Given the description of an element on the screen output the (x, y) to click on. 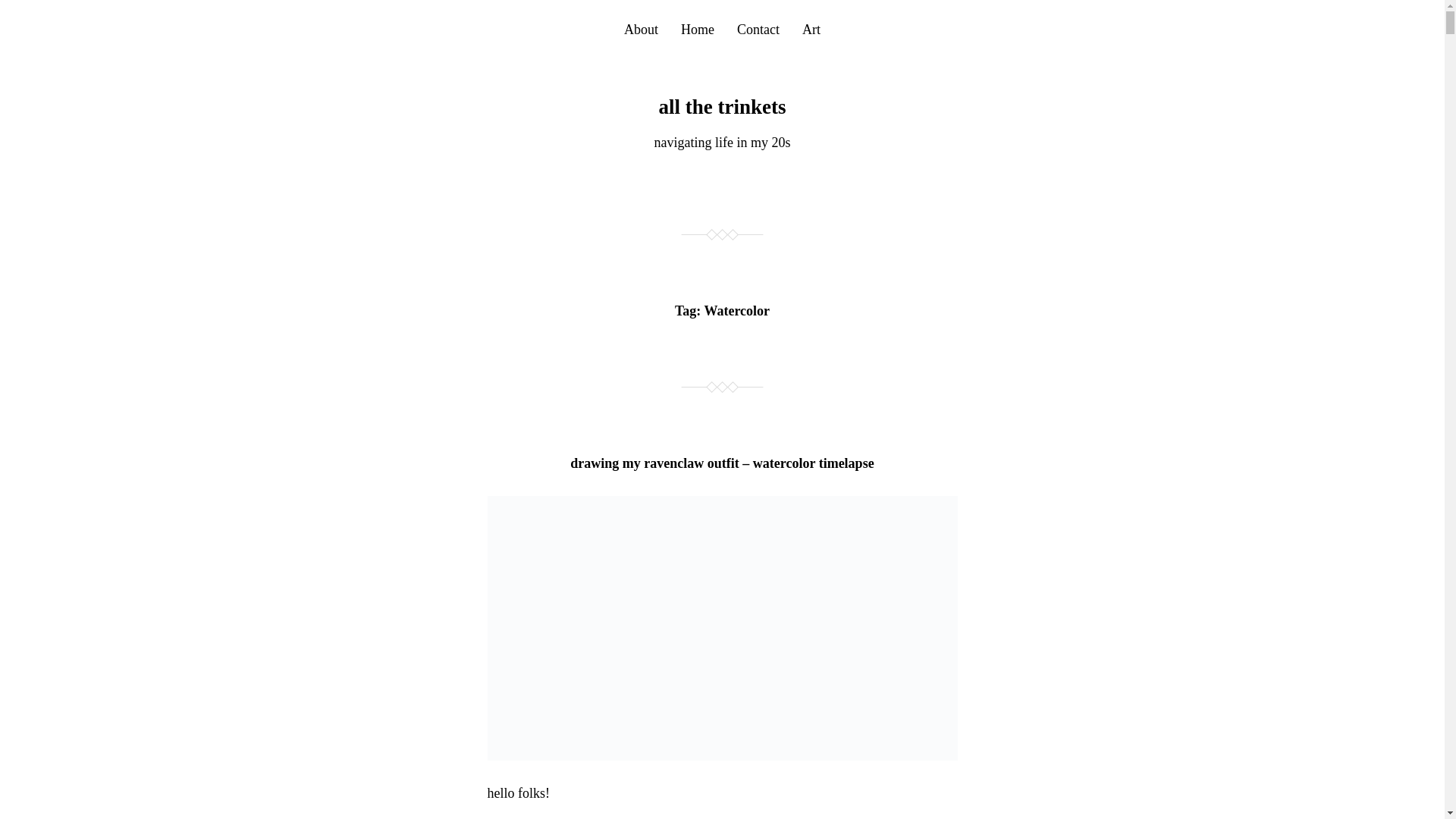
About (641, 29)
Art (811, 29)
all the trinkets (722, 106)
Home (697, 29)
Contact (757, 29)
